Given the description of an element on the screen output the (x, y) to click on. 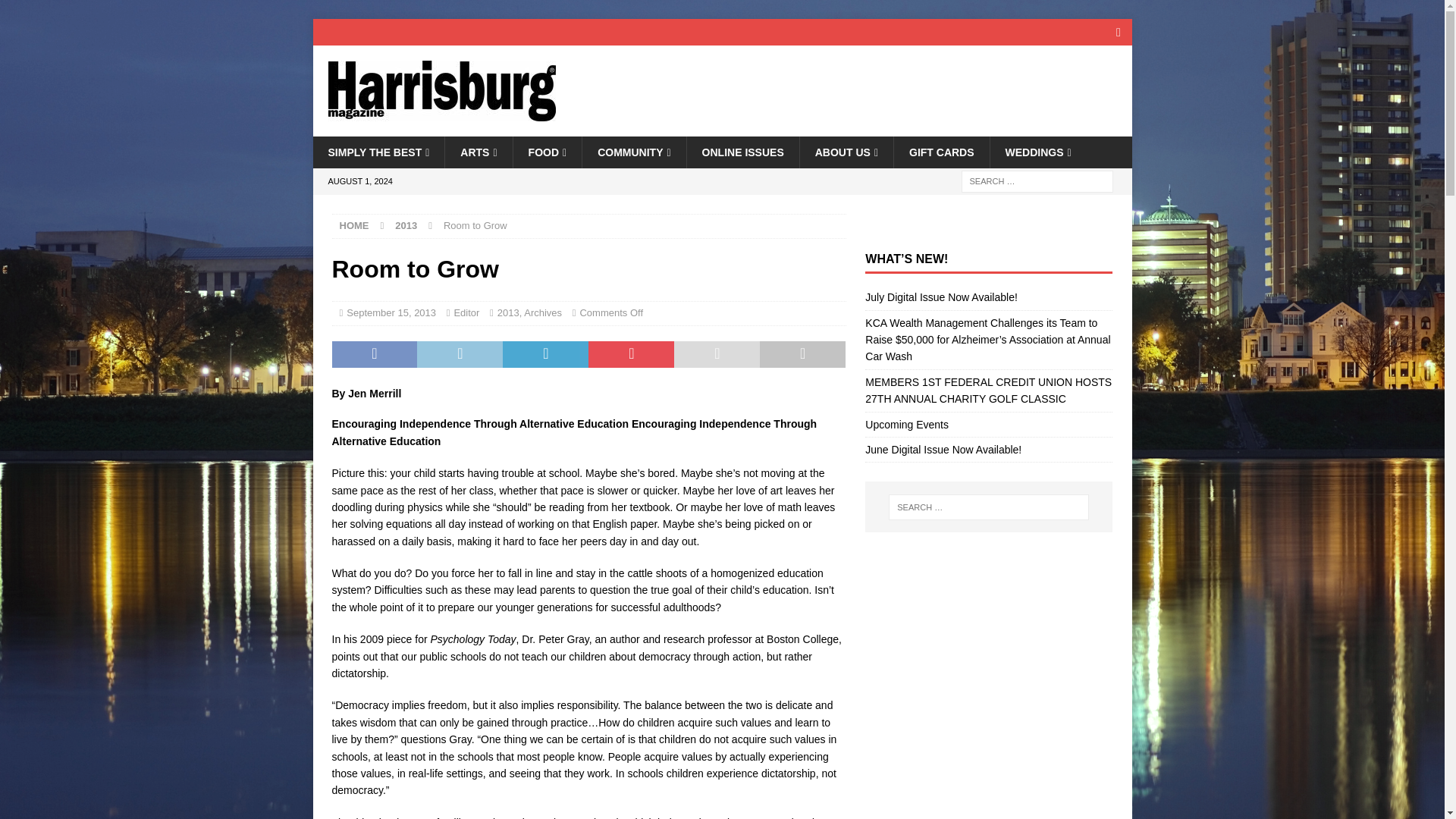
2013 (405, 225)
2013 (508, 312)
ABOUT US (846, 152)
ARTS (478, 152)
WEDDINGS (1038, 152)
HOME (354, 225)
Editor (465, 312)
GIFT CARDS (941, 152)
Archives (543, 312)
Search (56, 11)
September 15, 2013 (390, 312)
COMMUNITY (632, 152)
SIMPLY THE BEST (378, 152)
ONLINE ISSUES (742, 152)
FOOD (547, 152)
